Given the description of an element on the screen output the (x, y) to click on. 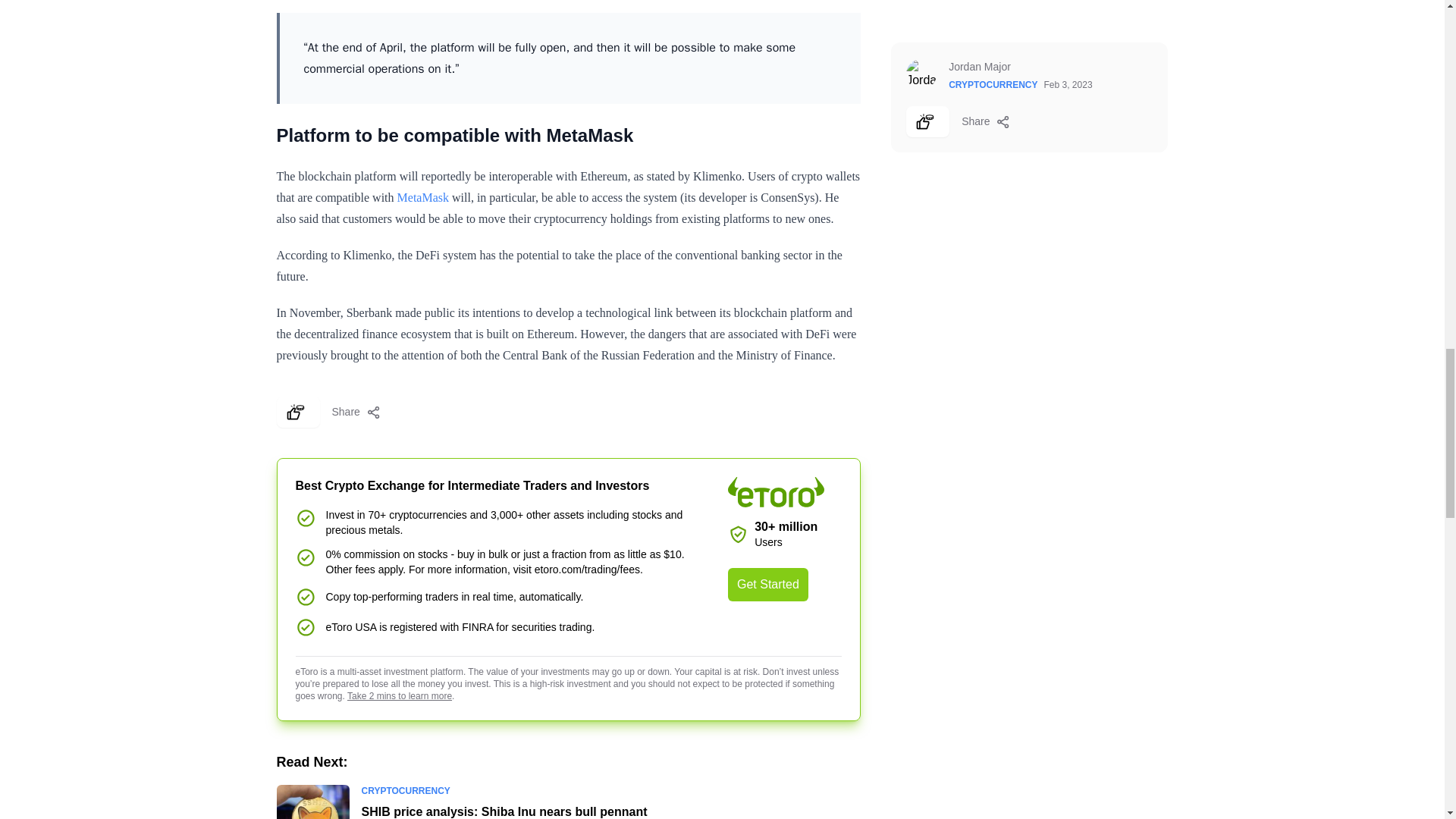
SHIB price analysis: Shiba Inu nears bull pennant breakout (503, 812)
SHIB price analysis: Shiba Inu nears bull pennant breakout (312, 801)
